Given the description of an element on the screen output the (x, y) to click on. 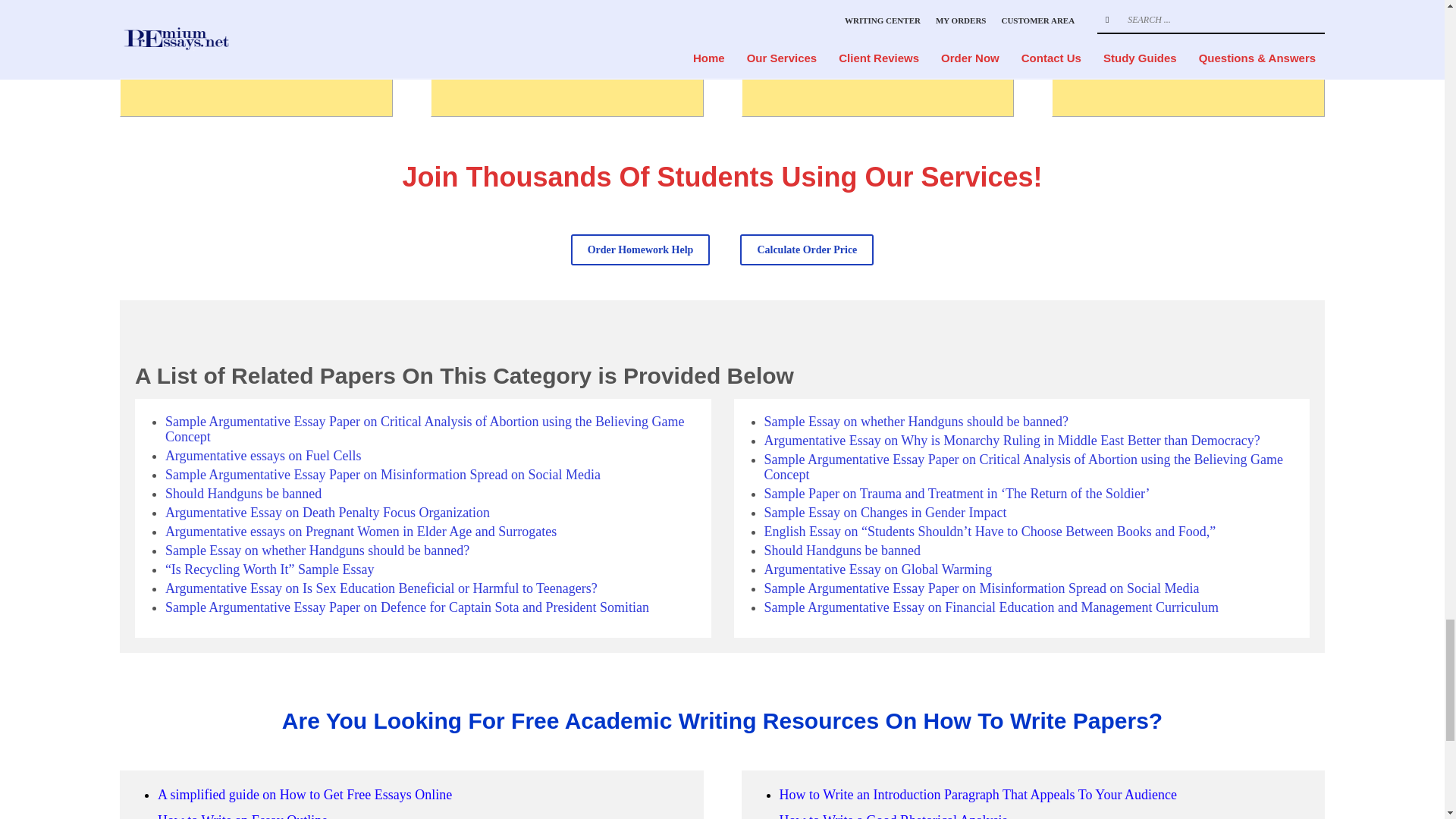
Argumentative Essay on Death Penalty Focus Organization (327, 512)
Order Homework Help (640, 249)
Sample Essay on whether Handguns should be banned? (916, 421)
Sample Essay on whether Handguns should be banned? (316, 549)
Argumentative essays on Fuel Cells (263, 455)
